Given the description of an element on the screen output the (x, y) to click on. 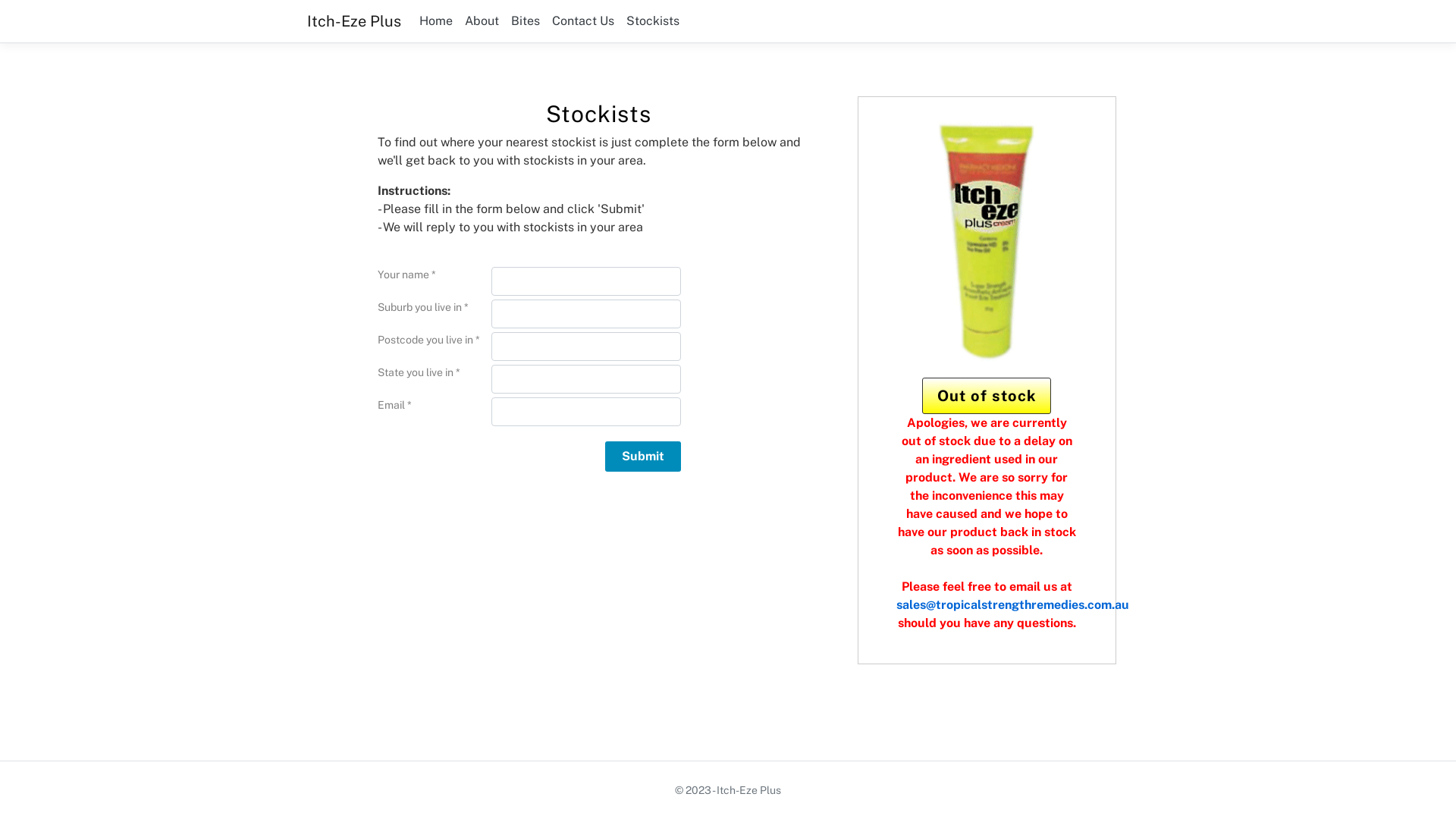
Submit Element type: text (642, 456)
Contact Us Element type: text (583, 21)
Bites Element type: text (525, 21)
Itch-Eze Plus Element type: text (354, 21)
Out of stock Element type: text (986, 395)
About Element type: text (481, 21)
sales@tropicalstrengthremedies.com.au Element type: text (1012, 604)
Home Element type: text (435, 21)
Stockists Element type: text (652, 21)
